Given the description of an element on the screen output the (x, y) to click on. 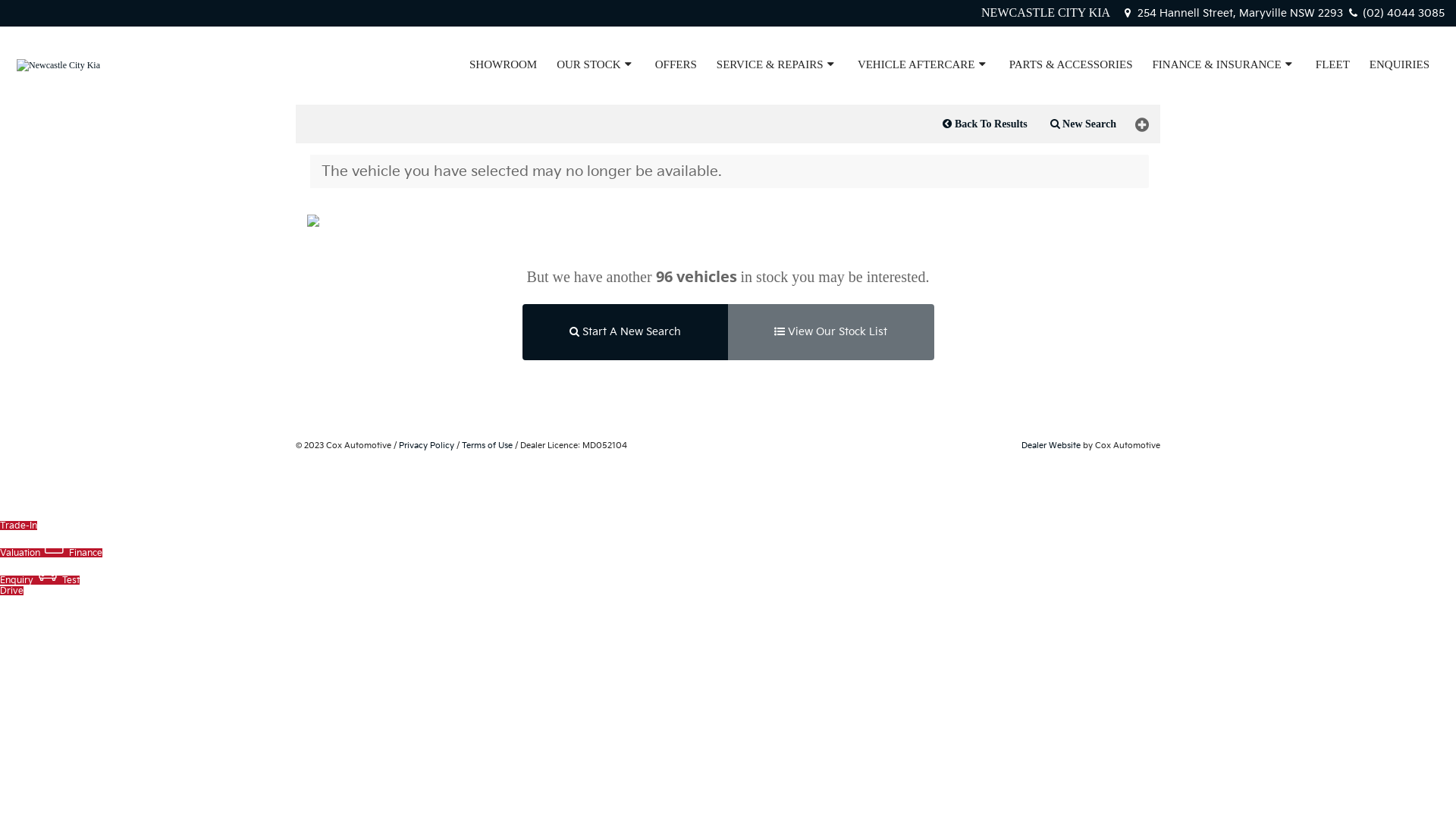
ENQUIRIES Element type: text (1399, 64)
Test
Drive Element type: text (39, 585)
OUR STOCK Element type: text (595, 64)
Trade-In
Valuation Element type: text (51, 526)
FINANCE & INSURANCE Element type: text (1223, 64)
Privacy Policy Element type: text (426, 445)
(02) 4044 3085 Element type: text (1395, 12)
PARTS & ACCESSORIES Element type: text (1070, 64)
Terms of Use Element type: text (486, 445)
Start A New Search Element type: text (624, 332)
Back To Results Element type: text (984, 124)
View Our Stock List Element type: text (829, 332)
NEWCASTLE CITY KIA Element type: text (1045, 12)
FLEET Element type: text (1332, 64)
Finance
Enquiry Element type: text (51, 566)
VEHICLE AFTERCARE Element type: text (923, 64)
254 Hannell Street, Maryville NSW 2293 Element type: text (1233, 12)
New Search Element type: text (1082, 124)
SERVICE & REPAIRS Element type: text (776, 64)
SHOWROOM Element type: text (502, 64)
Dealer Website Element type: text (1050, 445)
OFFERS Element type: text (675, 64)
